Given the description of an element on the screen output the (x, y) to click on. 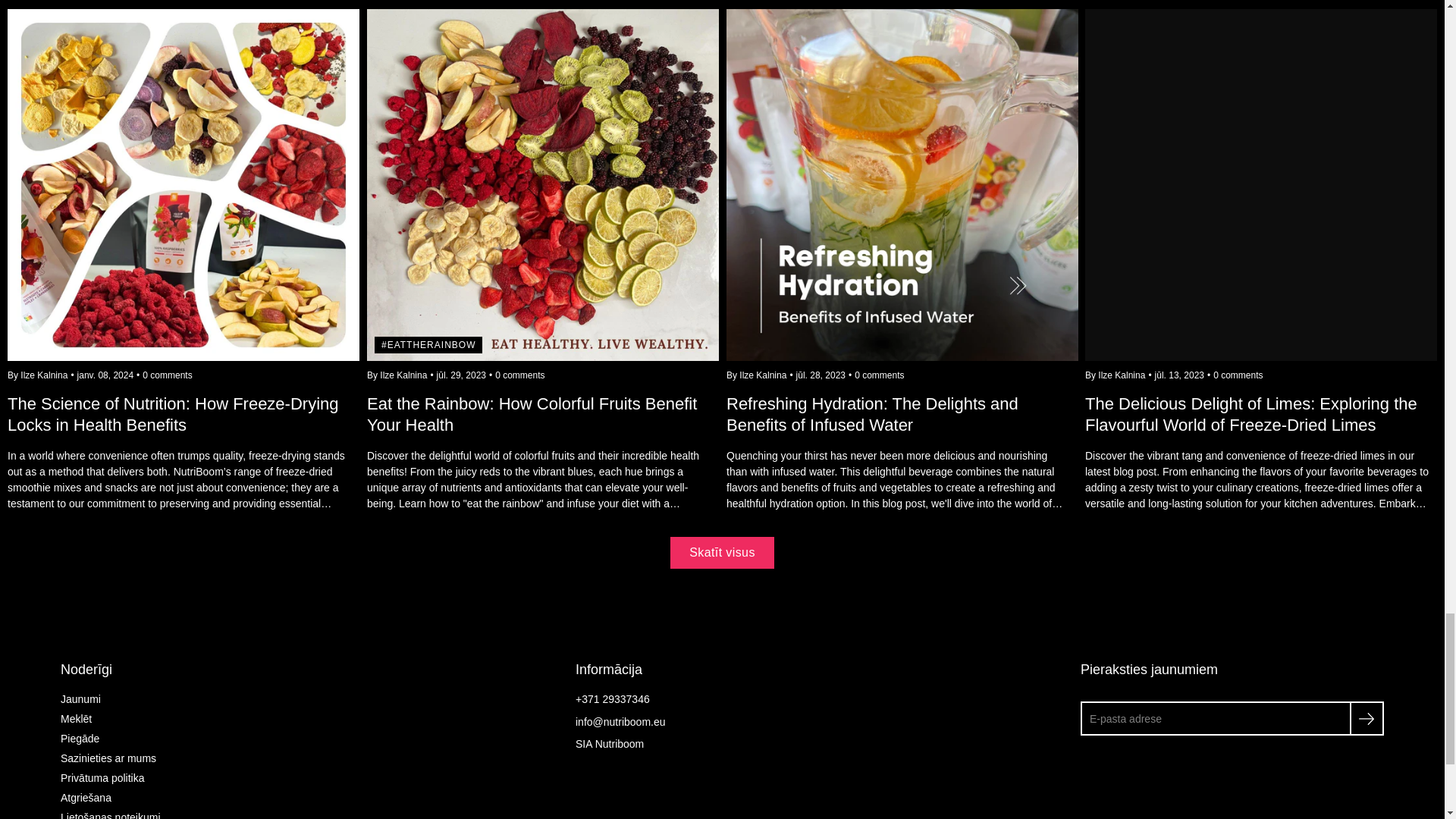
Eat the Rainbow: How Colorful Fruits Benefit Your Health (542, 439)
Eat the Rainbow: How Colorful Fruits Benefit Your Health (542, 185)
